Given the description of an element on the screen output the (x, y) to click on. 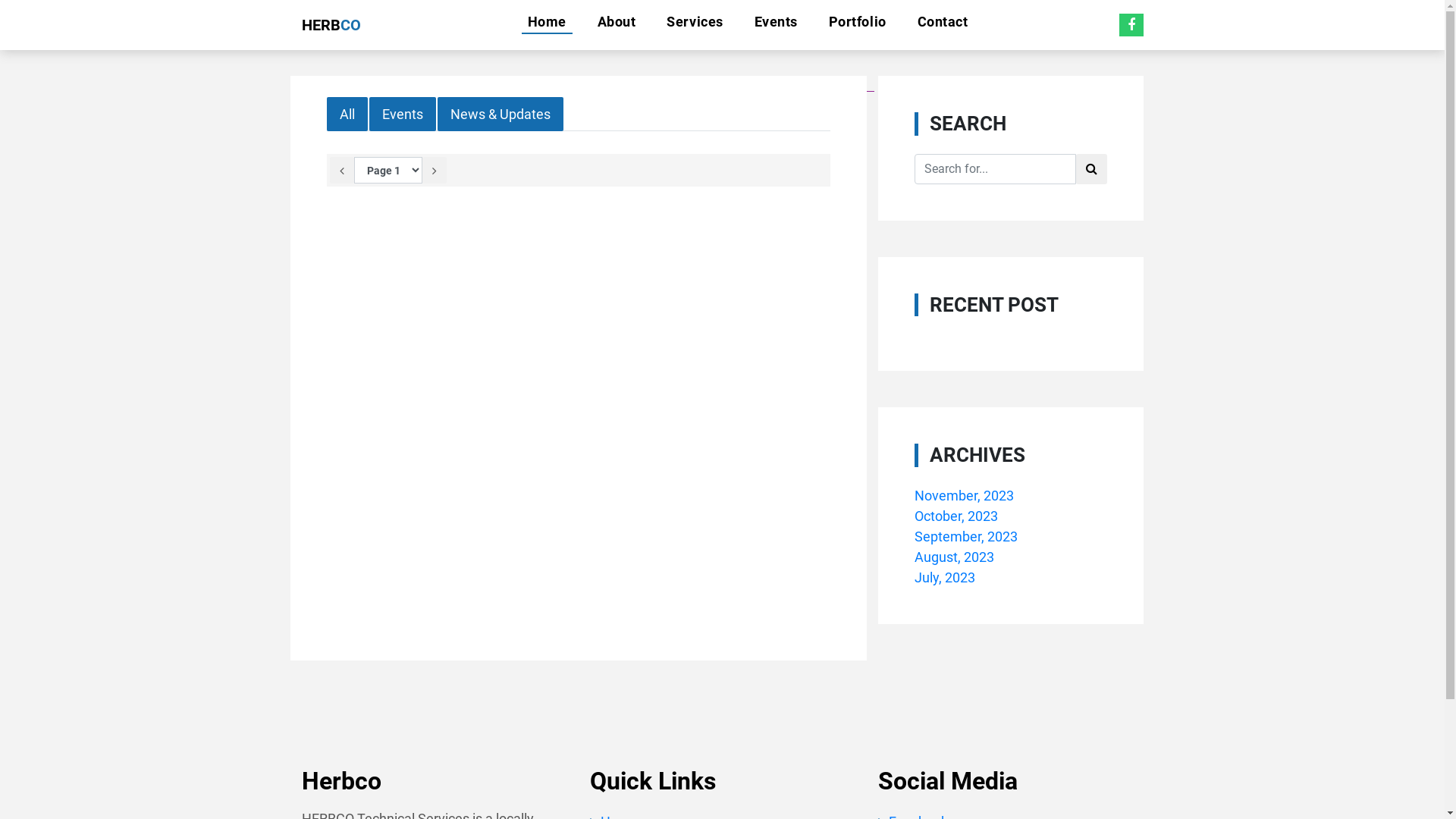
HERBCO Element type: text (330, 24)
All Element type: text (346, 114)
July, 2023 Element type: text (944, 577)
November, 2023 Element type: text (963, 495)
Events Element type: text (401, 114)
Home Element type: text (546, 21)
September, 2023 Element type: text (965, 536)
Events Element type: text (775, 21)
About Element type: text (616, 21)
Contact Element type: text (942, 21)
Services Element type: text (694, 21)
October, 2023 Element type: text (955, 516)
News & Updates Element type: text (499, 114)
August, 2023 Element type: text (954, 556)
Portfolio Element type: text (857, 21)
